Given the description of an element on the screen output the (x, y) to click on. 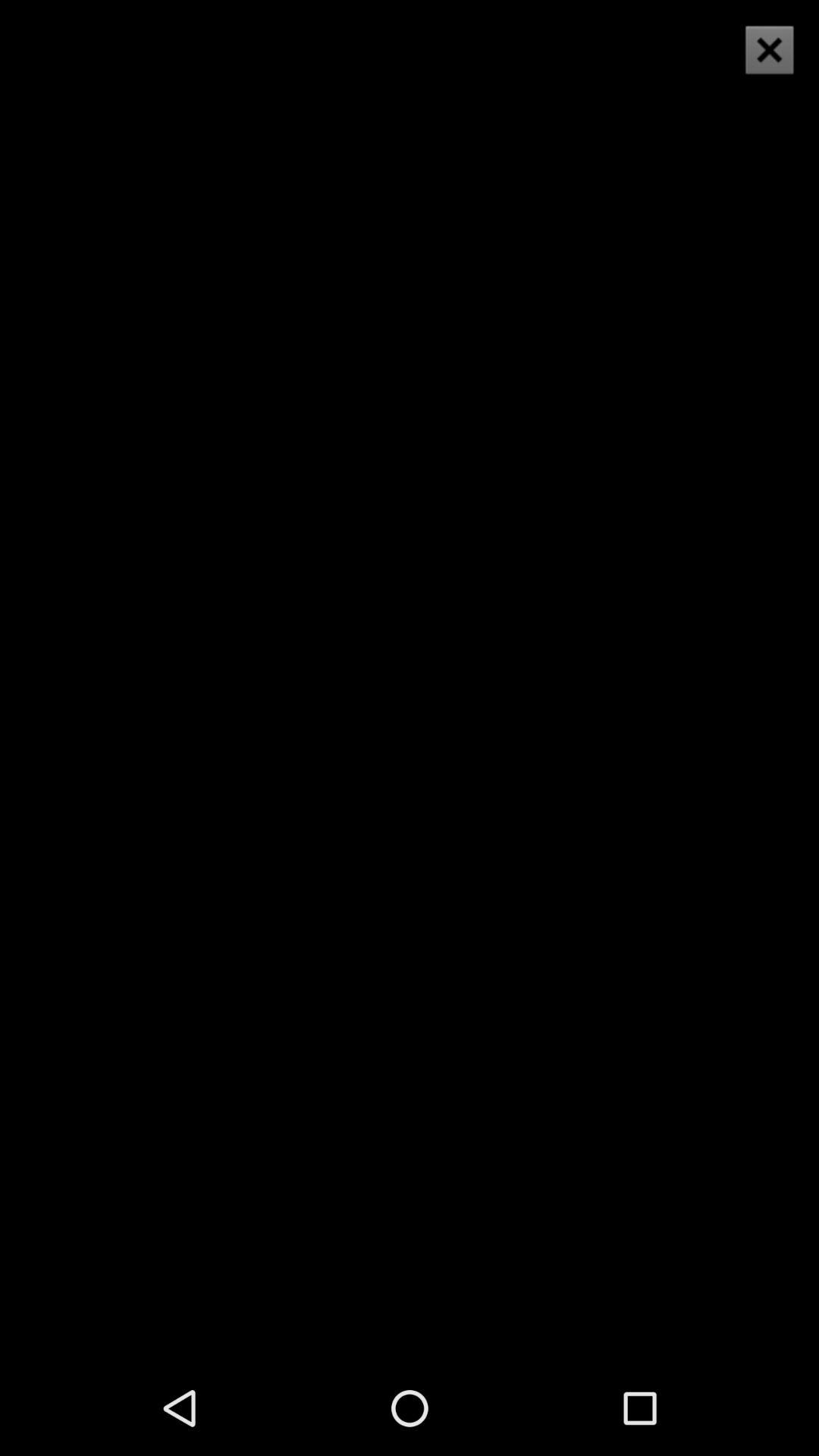
click item at the center (409, 680)
